Given the description of an element on the screen output the (x, y) to click on. 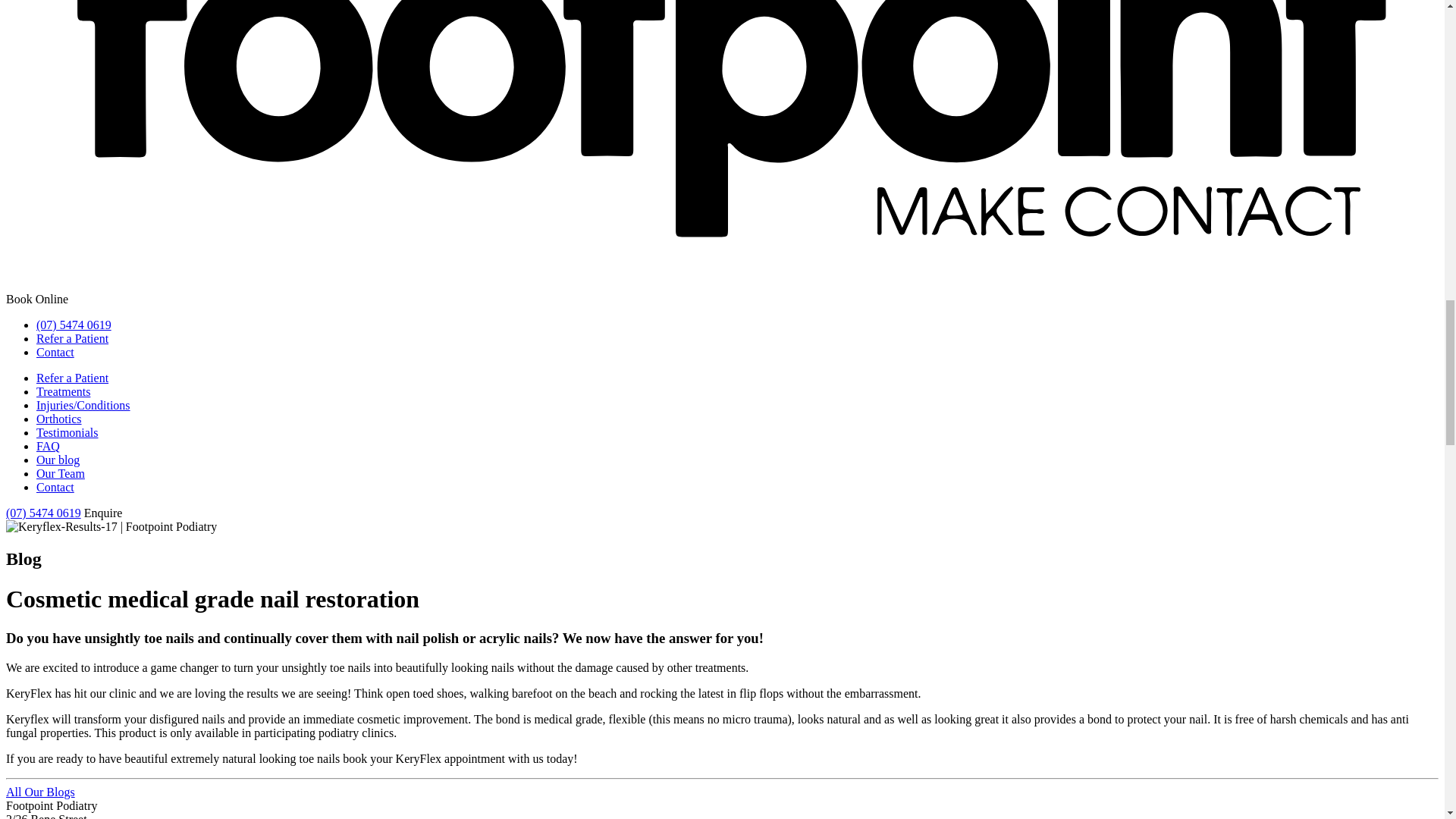
Enquire (103, 512)
Call Us (43, 512)
FAQ (47, 445)
Book Online (36, 298)
Our blog (58, 459)
Refer a Patient (71, 338)
Contact (55, 351)
Treatments (63, 391)
Testimonials (67, 431)
Contact (55, 486)
